Given the description of an element on the screen output the (x, y) to click on. 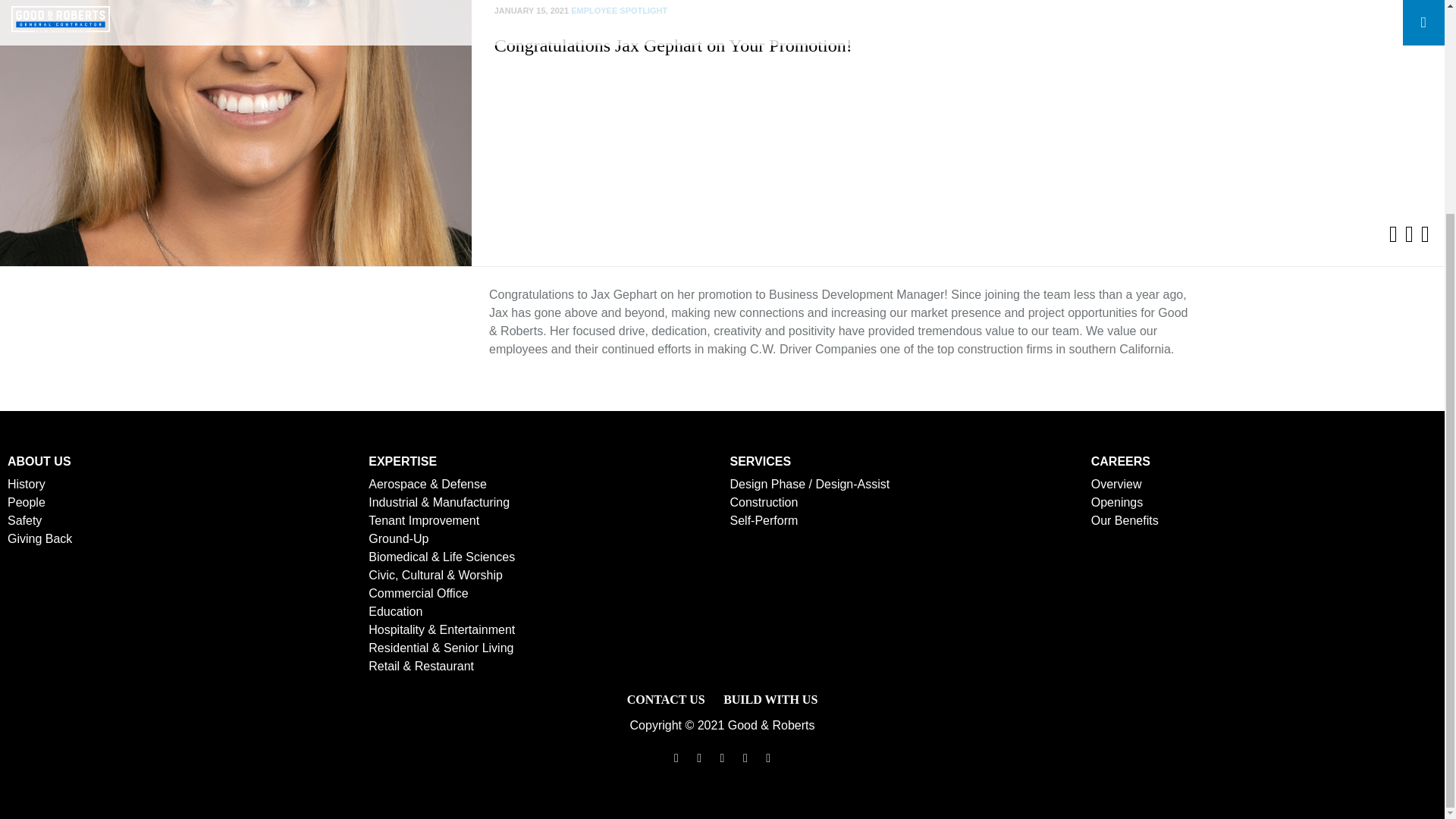
EMPLOYEE SPOTLIGHT (618, 10)
Overview (1115, 483)
Giving Back (39, 538)
Tenant Improvement (423, 520)
Education (395, 611)
Openings (1116, 502)
Safety (24, 520)
Construction (763, 502)
Ground-Up (398, 538)
Our Benefits (1124, 520)
Commercial Office (417, 593)
People (26, 502)
Congratulations Jax Gephart on Your Promotion! (673, 45)
History (26, 483)
Self-Perform (763, 520)
